Given the description of an element on the screen output the (x, y) to click on. 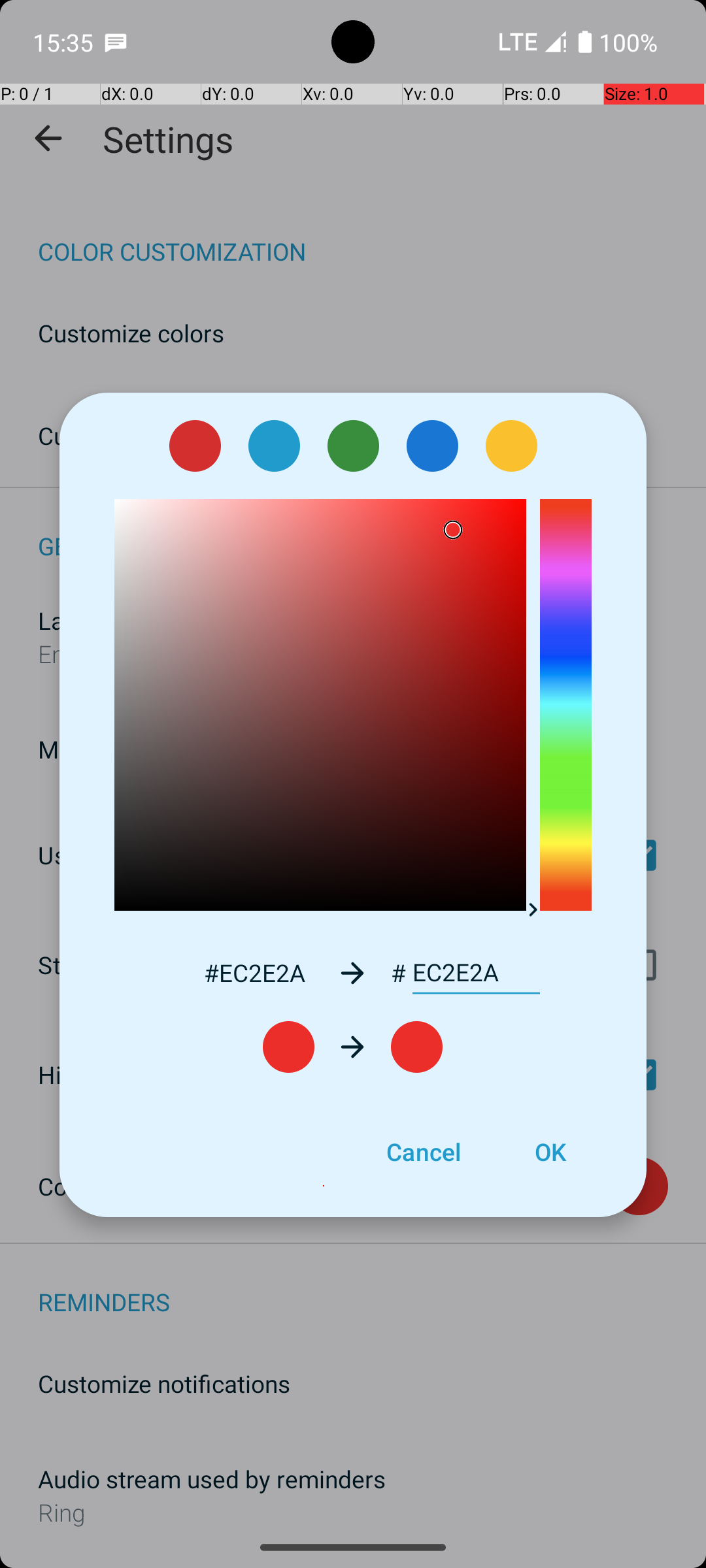
#EC2E2A Element type: android.widget.TextView (254, 972)
EC2E2A Element type: android.widget.EditText (475, 972)
